Given the description of an element on the screen output the (x, y) to click on. 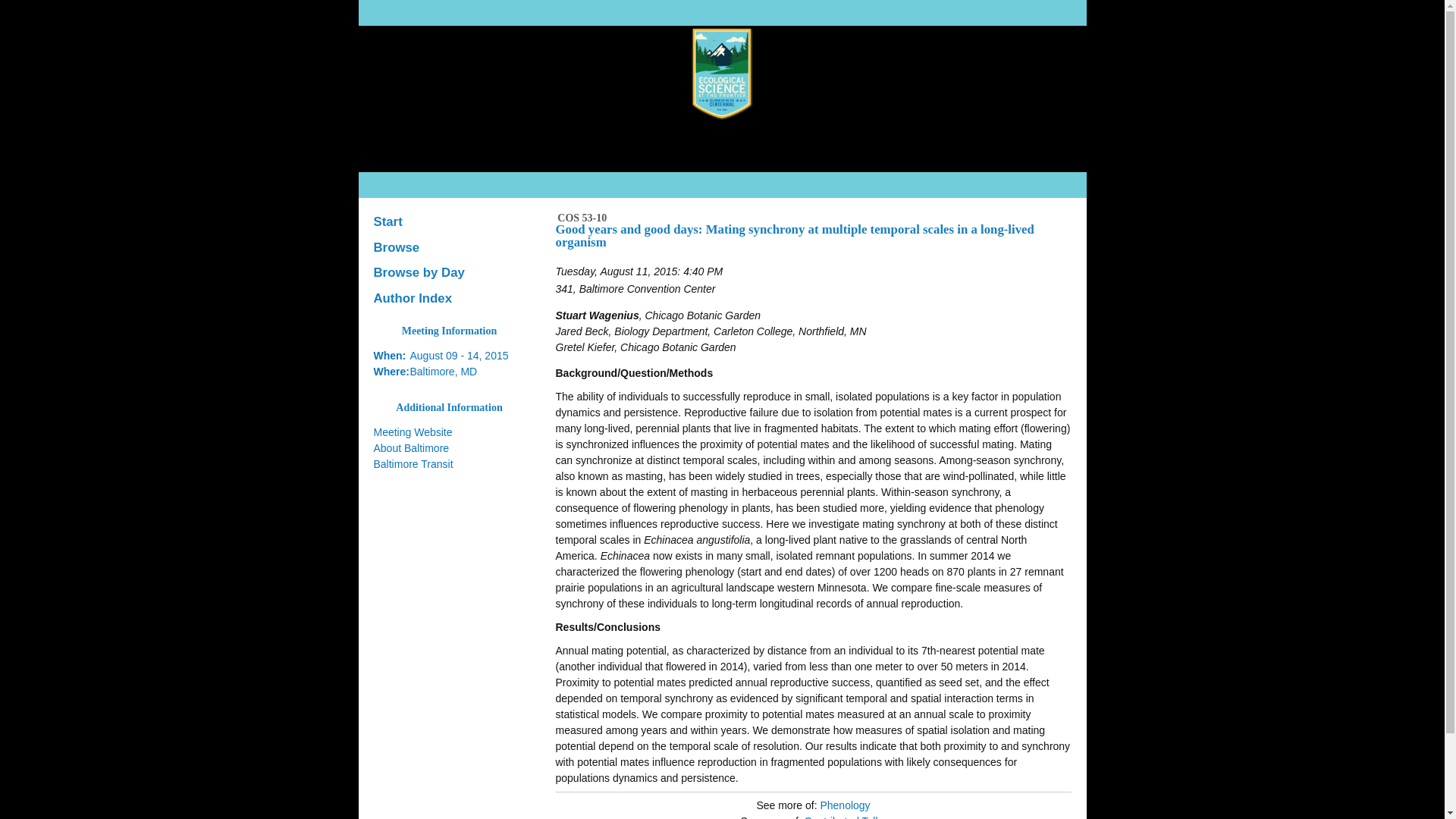
Baltimore Transit (412, 463)
Contributed Talks (845, 816)
Author Index (448, 298)
Phenology (844, 805)
Start (448, 222)
Browse by Day (448, 272)
Meeting Website (411, 431)
About Baltimore (410, 448)
Browse (448, 248)
